Given the description of an element on the screen output the (x, y) to click on. 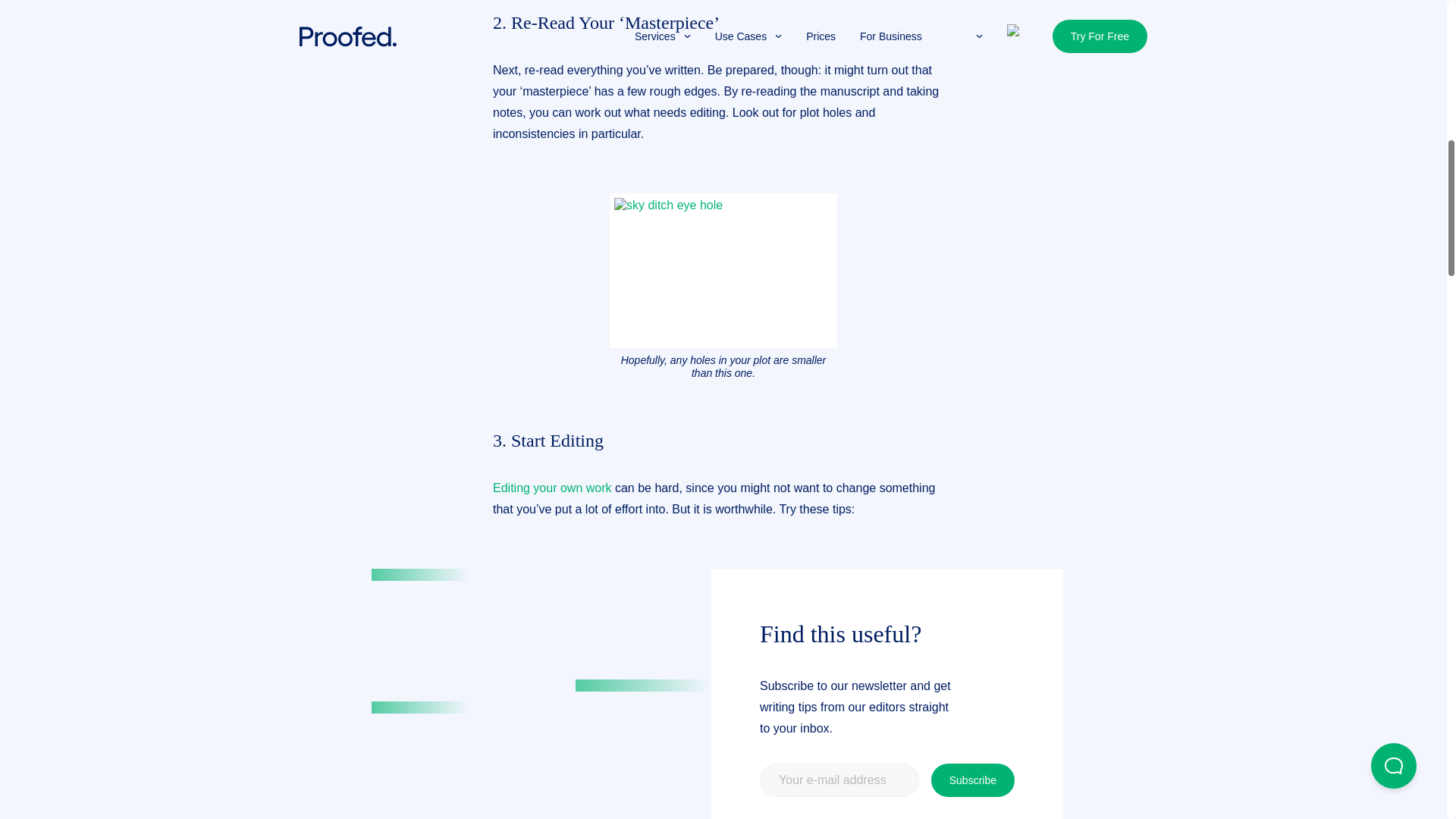
Subscribe (972, 779)
Editing your own work (552, 487)
